Given the description of an element on the screen output the (x, y) to click on. 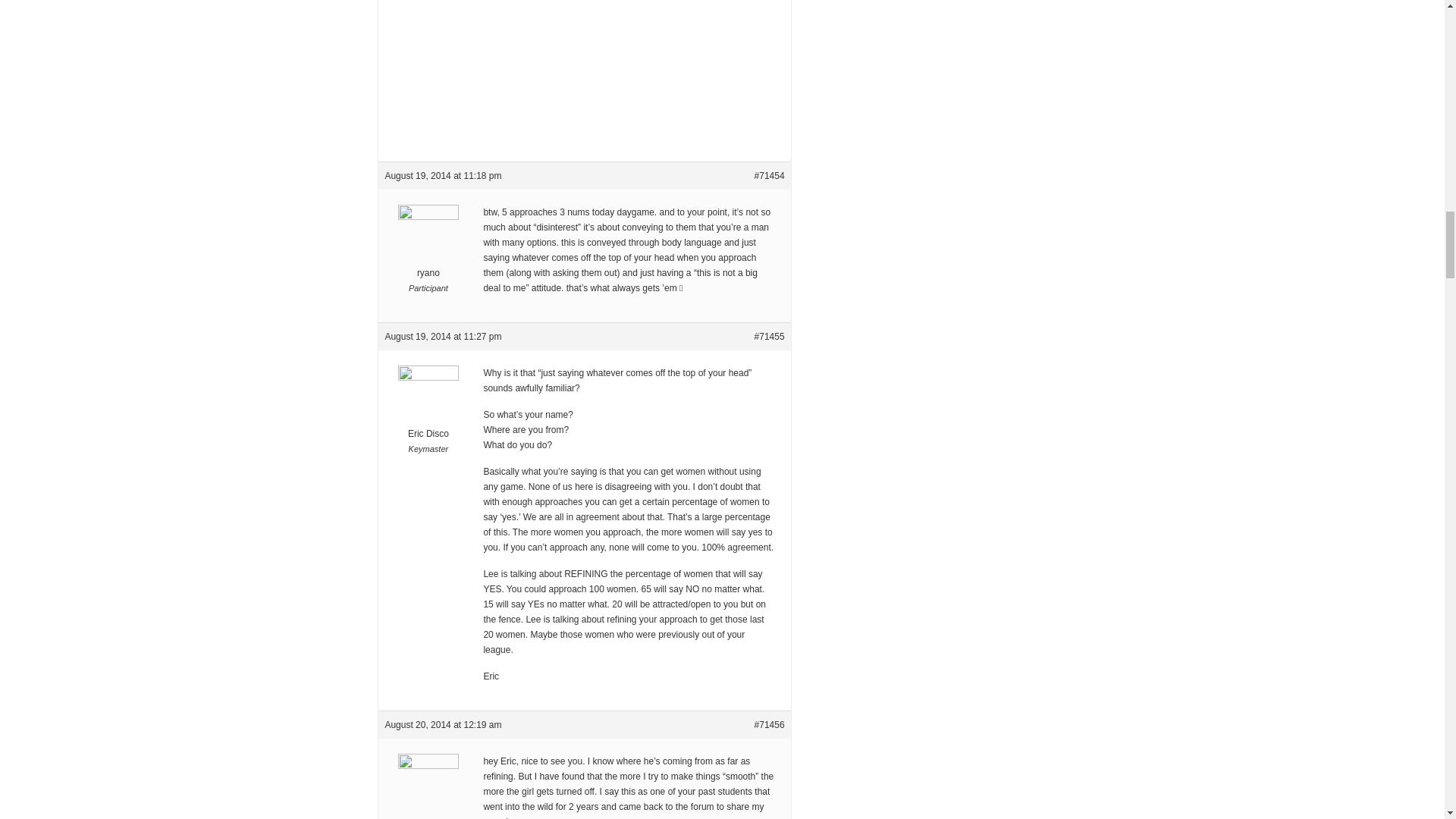
View Eric Disco's profile (427, 412)
ryano (427, 252)
View ryano's profile (427, 252)
View ryano's profile (427, 796)
ryano (427, 796)
Eric Disco (427, 412)
